Given the description of an element on the screen output the (x, y) to click on. 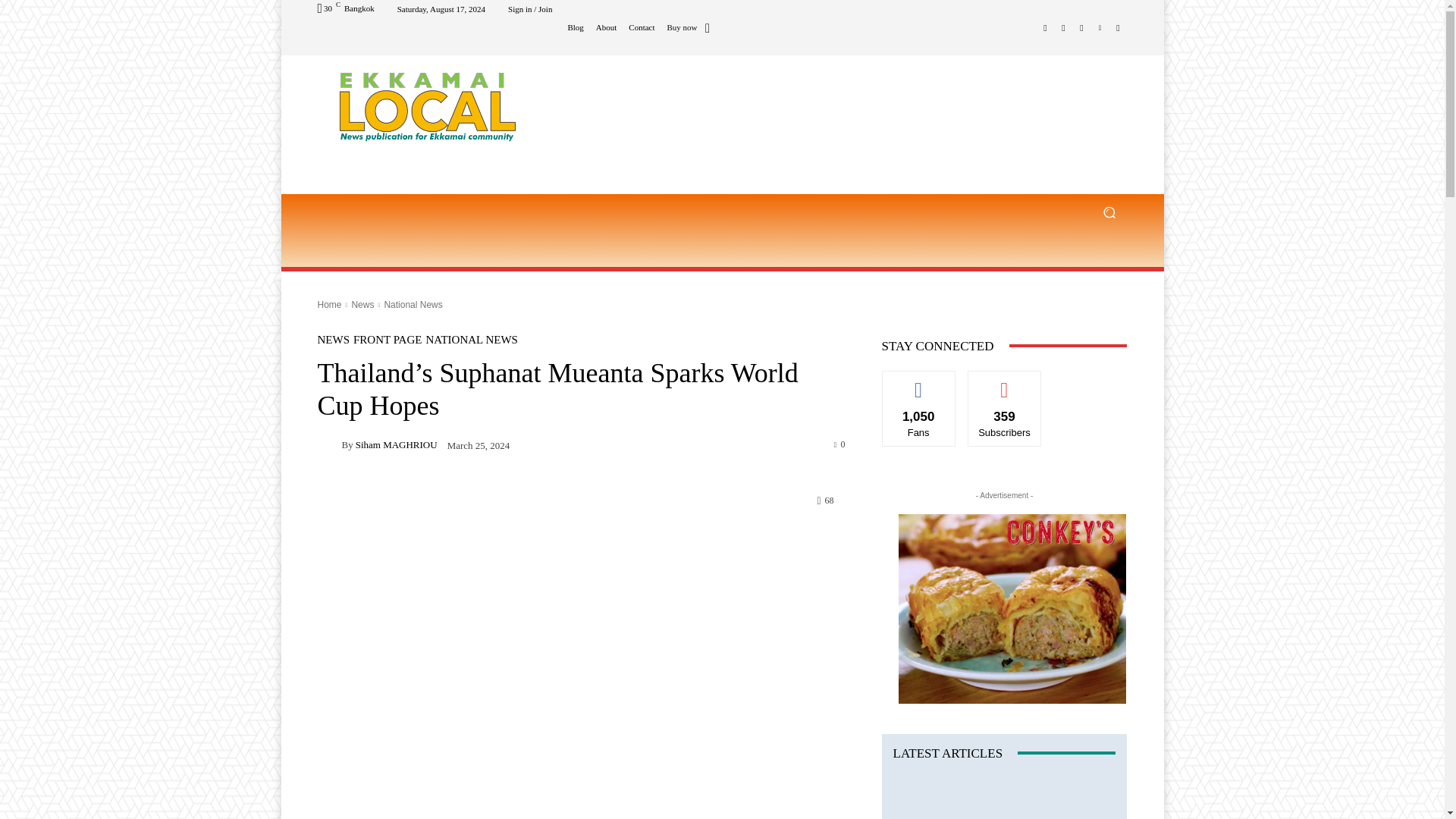
View all posts in National News (413, 304)
About (606, 27)
Contact (640, 27)
Siham MAGHRIOU (328, 444)
Instagram (1062, 27)
Youtube (1117, 27)
Blog (575, 27)
Facebook (1044, 27)
Twitter (1080, 27)
Vimeo (1099, 27)
